Given the description of an element on the screen output the (x, y) to click on. 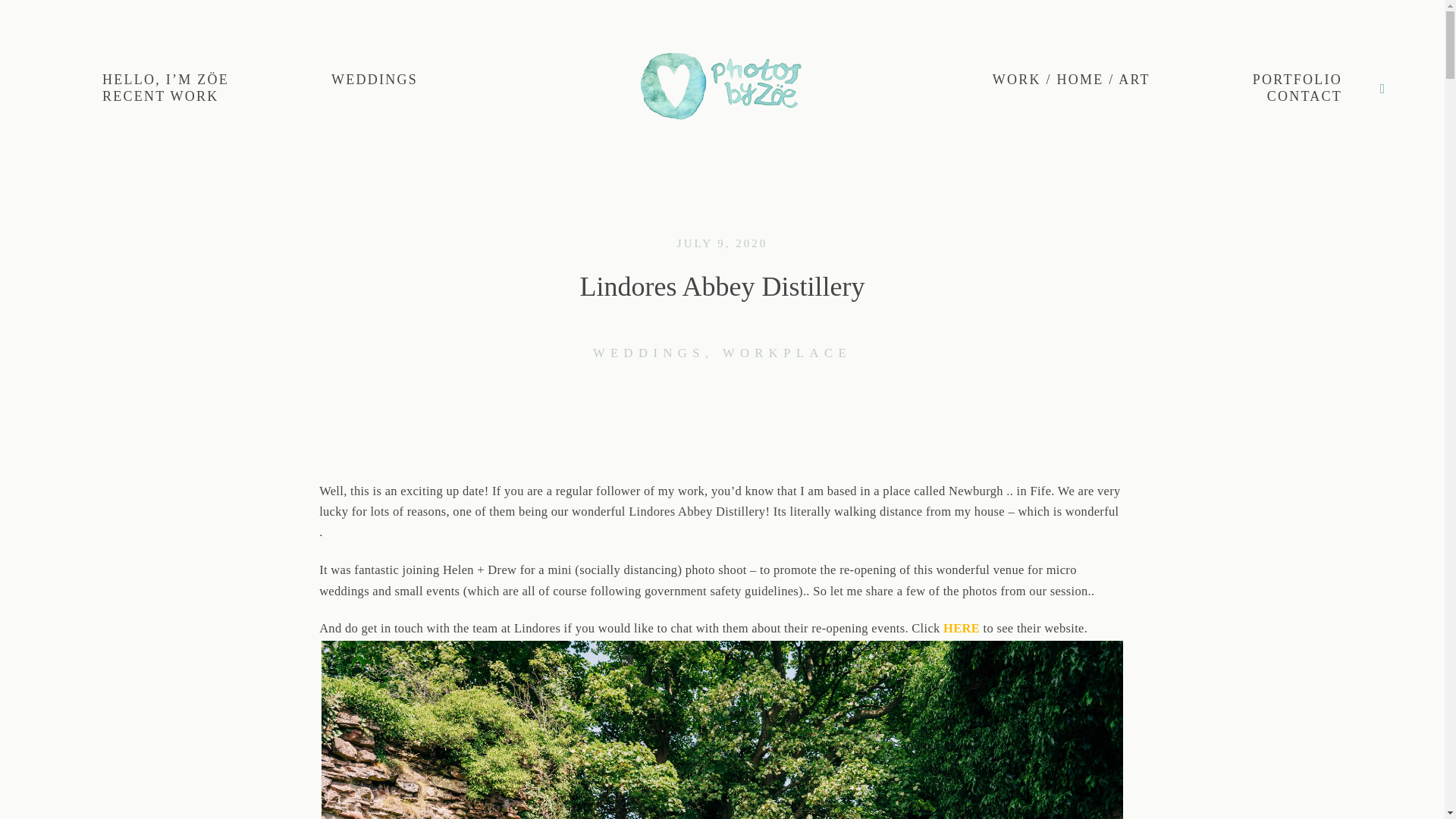
CONTACT (1304, 96)
PORTFOLIO (1297, 80)
non clickable (1297, 80)
WEDDINGS (374, 80)
WEDDINGS (657, 352)
RECENT WORK (160, 96)
